Given the description of an element on the screen output the (x, y) to click on. 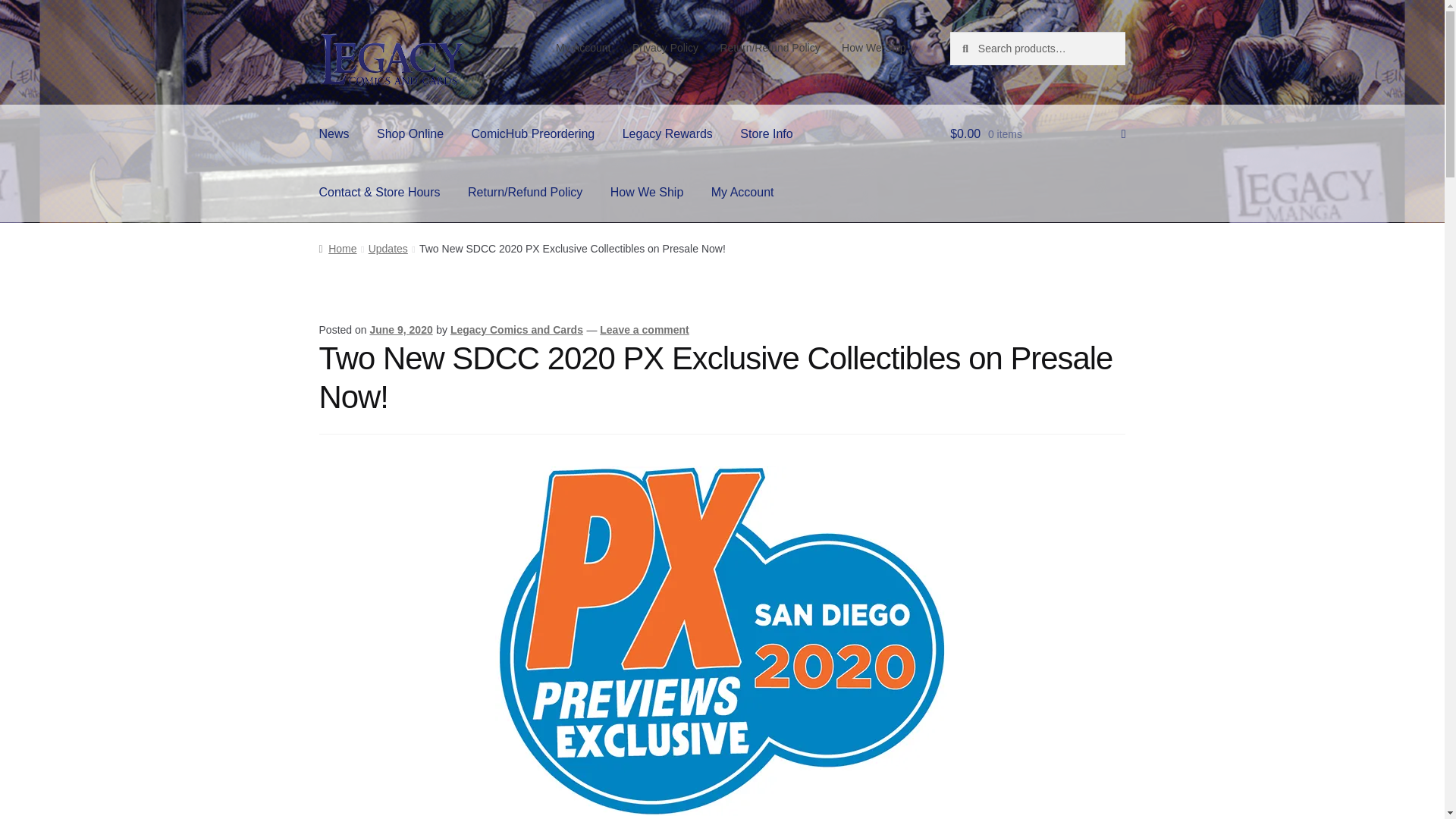
ComicHub Preordering (533, 133)
Leave a comment (643, 329)
My Account (583, 47)
Legacy Rewards (667, 133)
June 9, 2020 (400, 329)
Home (337, 248)
My Account (742, 191)
How We Ship (646, 191)
View your shopping cart (1037, 133)
News (334, 133)
Privacy Policy (665, 47)
How We Ship (873, 47)
Store Info (766, 133)
